Given the description of an element on the screen output the (x, y) to click on. 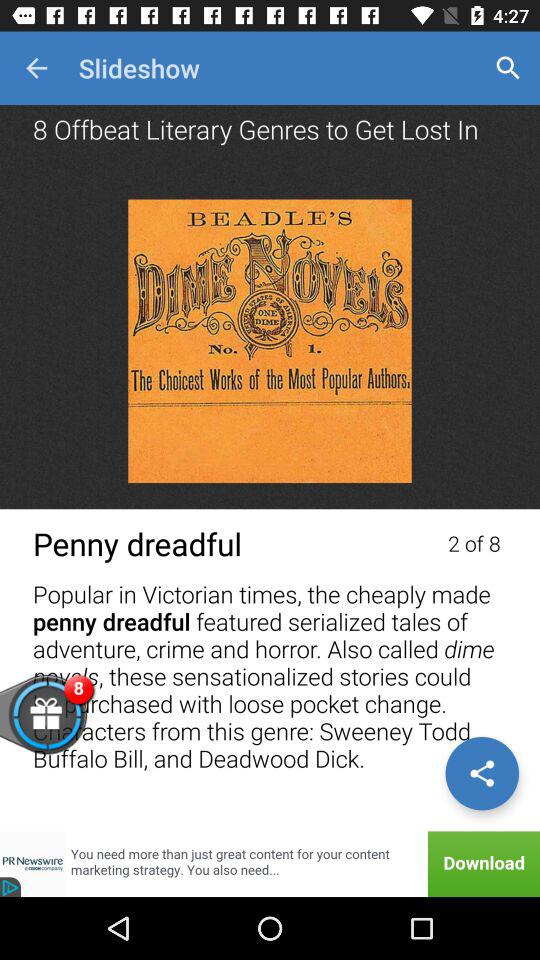
open advertisement (270, 864)
